Given the description of an element on the screen output the (x, y) to click on. 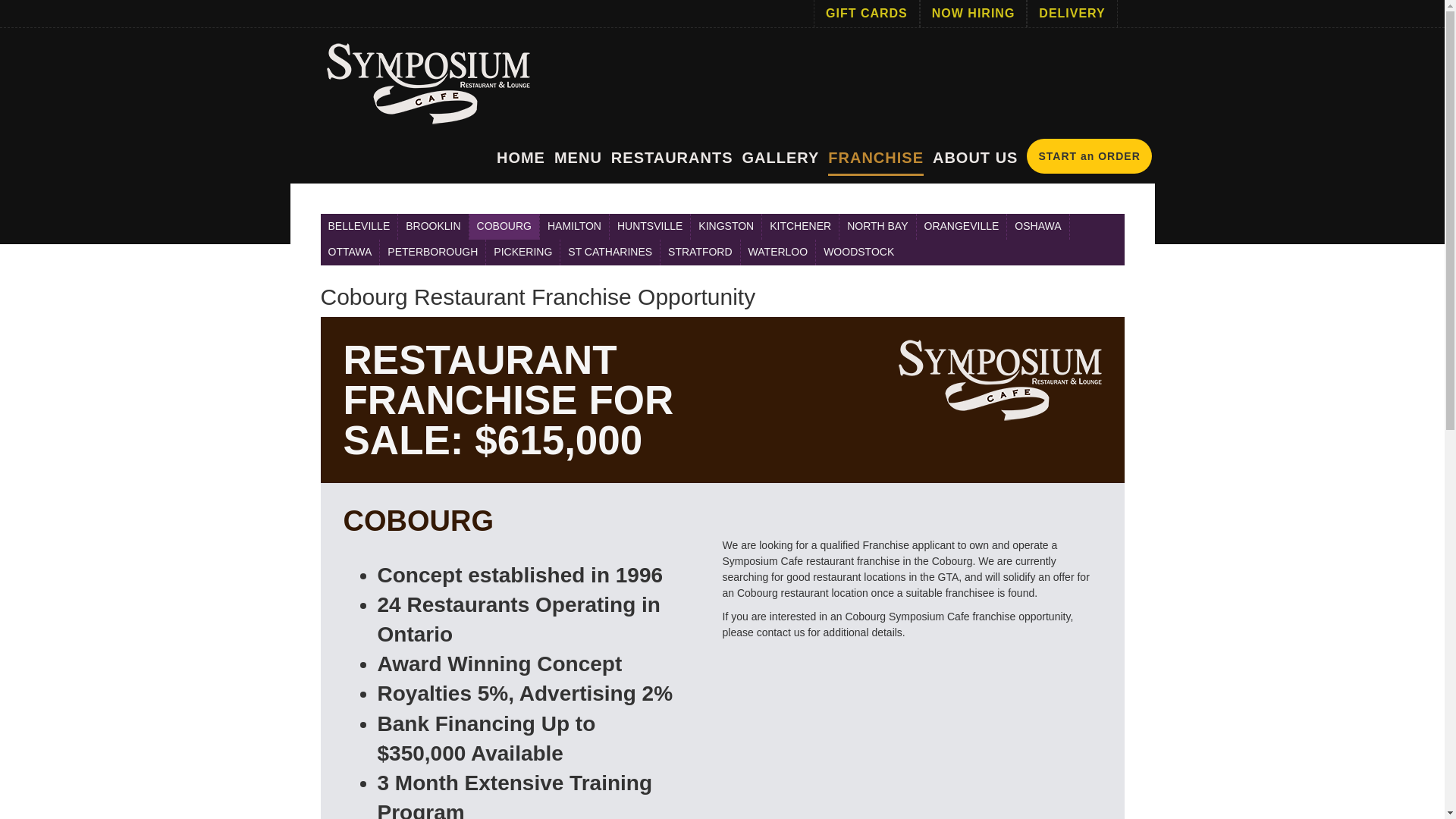
ABOUT US (975, 157)
MENU (578, 157)
DELIVERY (1071, 13)
RESTAURANTS (672, 157)
GIFT CARDS (865, 13)
HOME (520, 157)
NOW HIRING (973, 13)
START an ORDER (1088, 155)
FRANCHISE (875, 162)
GALLERY (779, 157)
